Given the description of an element on the screen output the (x, y) to click on. 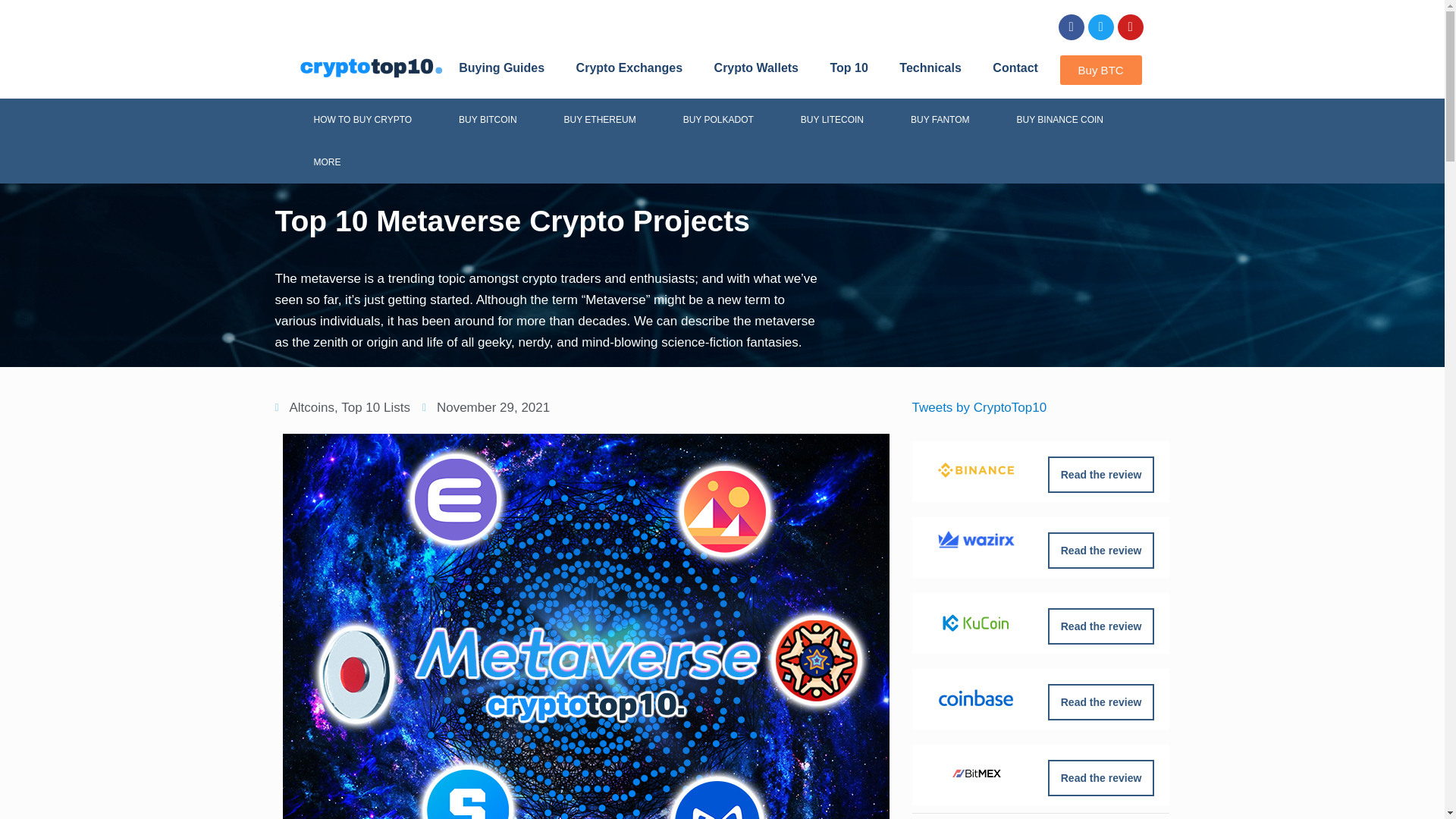
WazirX (975, 539)
Crypto Wallets (755, 67)
HOW TO BUY CRYPTO (362, 119)
BUY LITECOIN (831, 119)
BUY ETHEREUM (599, 119)
BUY FANTOM (939, 119)
MORE (326, 161)
Buy BTC (1100, 69)
Technicals (929, 67)
BUY POLKADOT (718, 119)
Buying Guides (500, 67)
Crypto Exchanges (629, 67)
Binance (975, 469)
Bitmex (976, 773)
BUY BINANCE COIN (1059, 119)
